Given the description of an element on the screen output the (x, y) to click on. 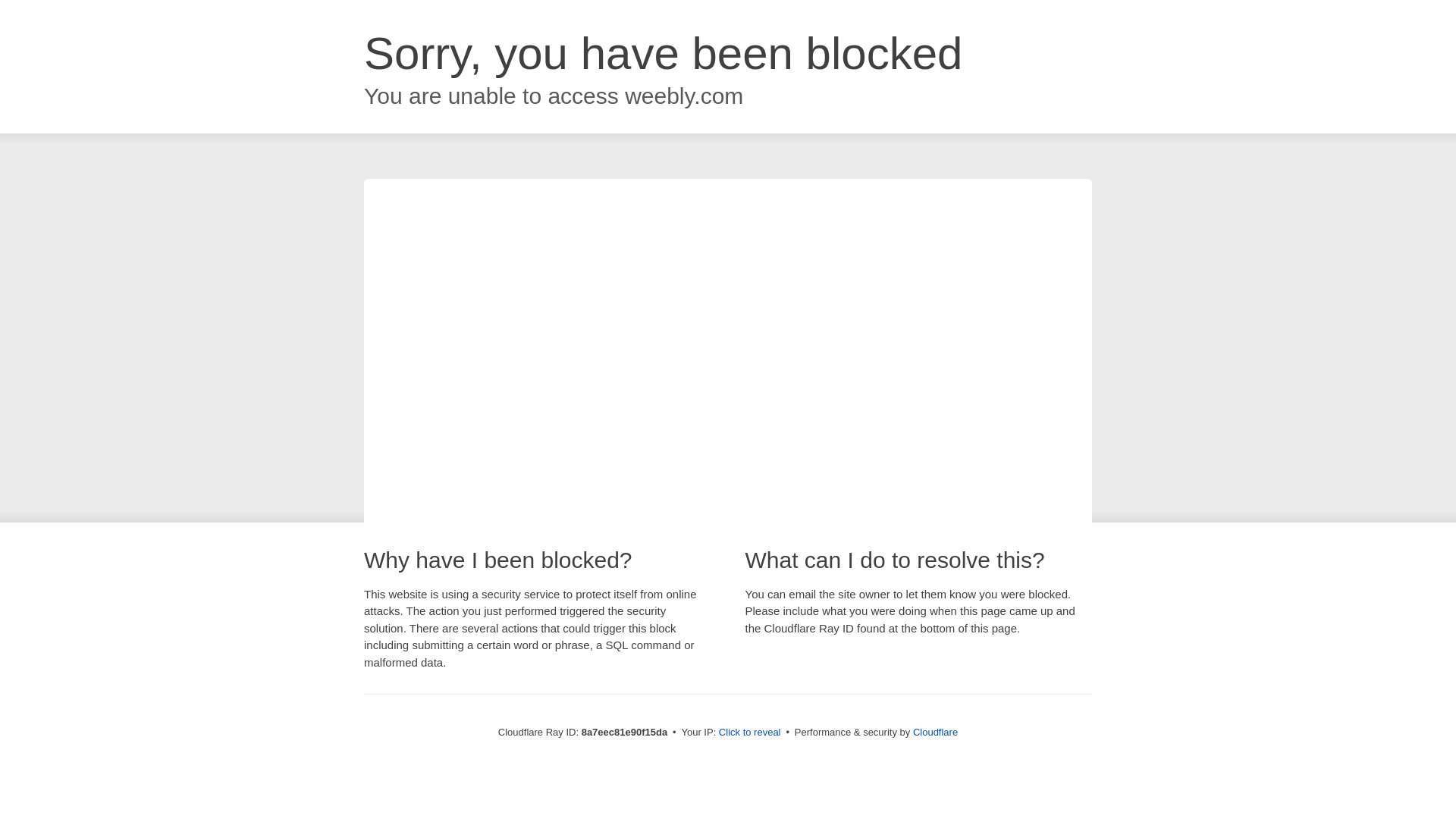
Click to reveal (749, 732)
Cloudflare (935, 731)
